Given the description of an element on the screen output the (x, y) to click on. 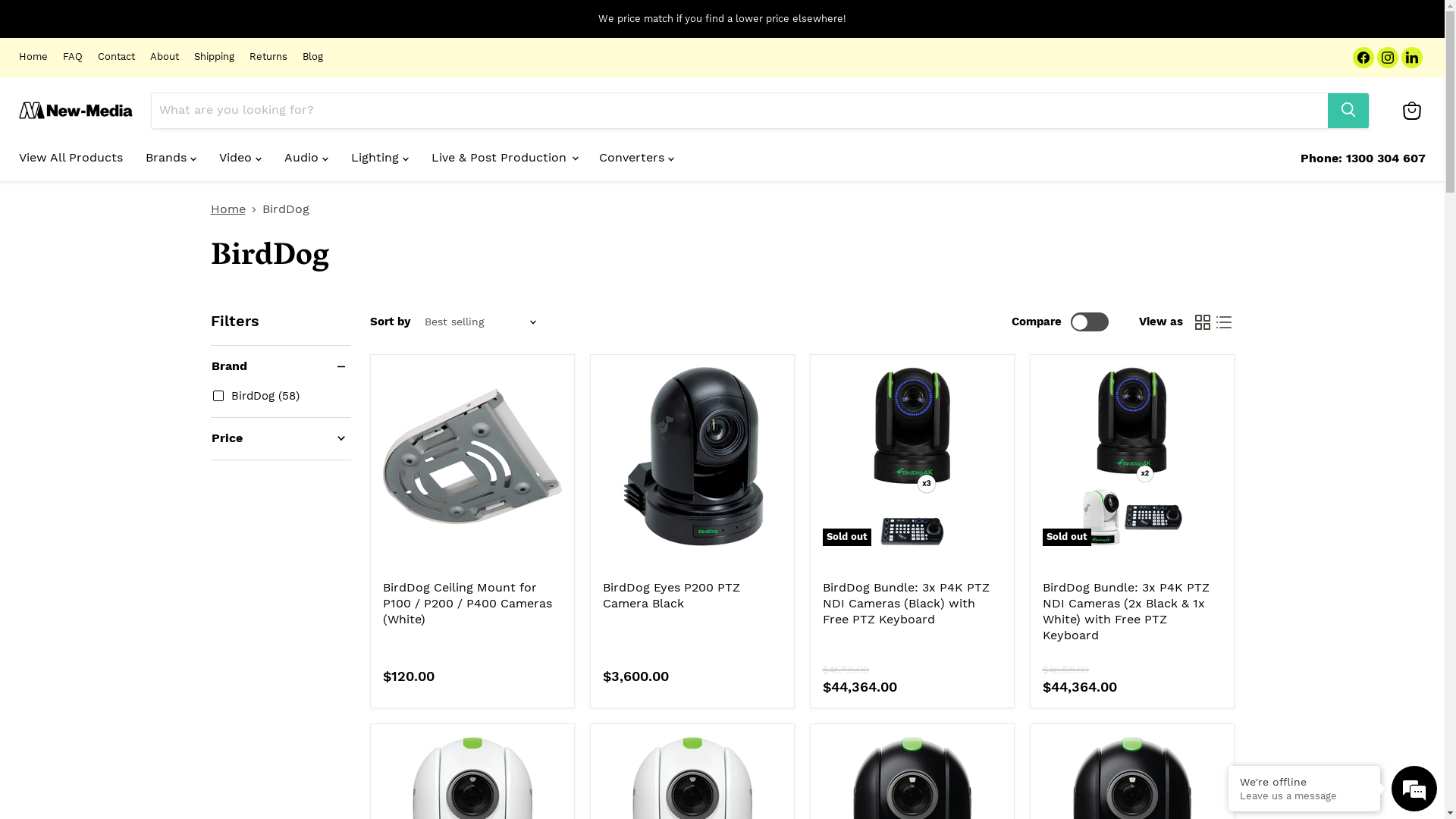
BirdDog (58) Element type: text (255, 395)
Returns Element type: text (268, 56)
Contact Element type: text (115, 56)
Price Element type: text (280, 438)
Sold out Element type: text (911, 456)
Brand Element type: text (280, 366)
About Element type: text (164, 56)
Home Element type: text (227, 209)
View All Products Element type: text (70, 156)
Blog Element type: text (312, 56)
Find us on Facebook Element type: text (1363, 57)
FAQ Element type: text (72, 56)
Sold out Element type: text (1130, 456)
Find us on LinkedIn Element type: text (1411, 57)
BirdDog Ceiling Mount for P100 / P200 / P400 Cameras (White) Element type: text (466, 603)
Shipping Element type: text (214, 56)
View cart Element type: text (1411, 110)
Find us on Instagram Element type: text (1387, 57)
BirdDog Eyes P200 PTZ Camera Black Element type: text (670, 595)
Home Element type: text (32, 56)
Phone: 1300 304 607 Element type: text (1363, 158)
